Given the description of an element on the screen output the (x, y) to click on. 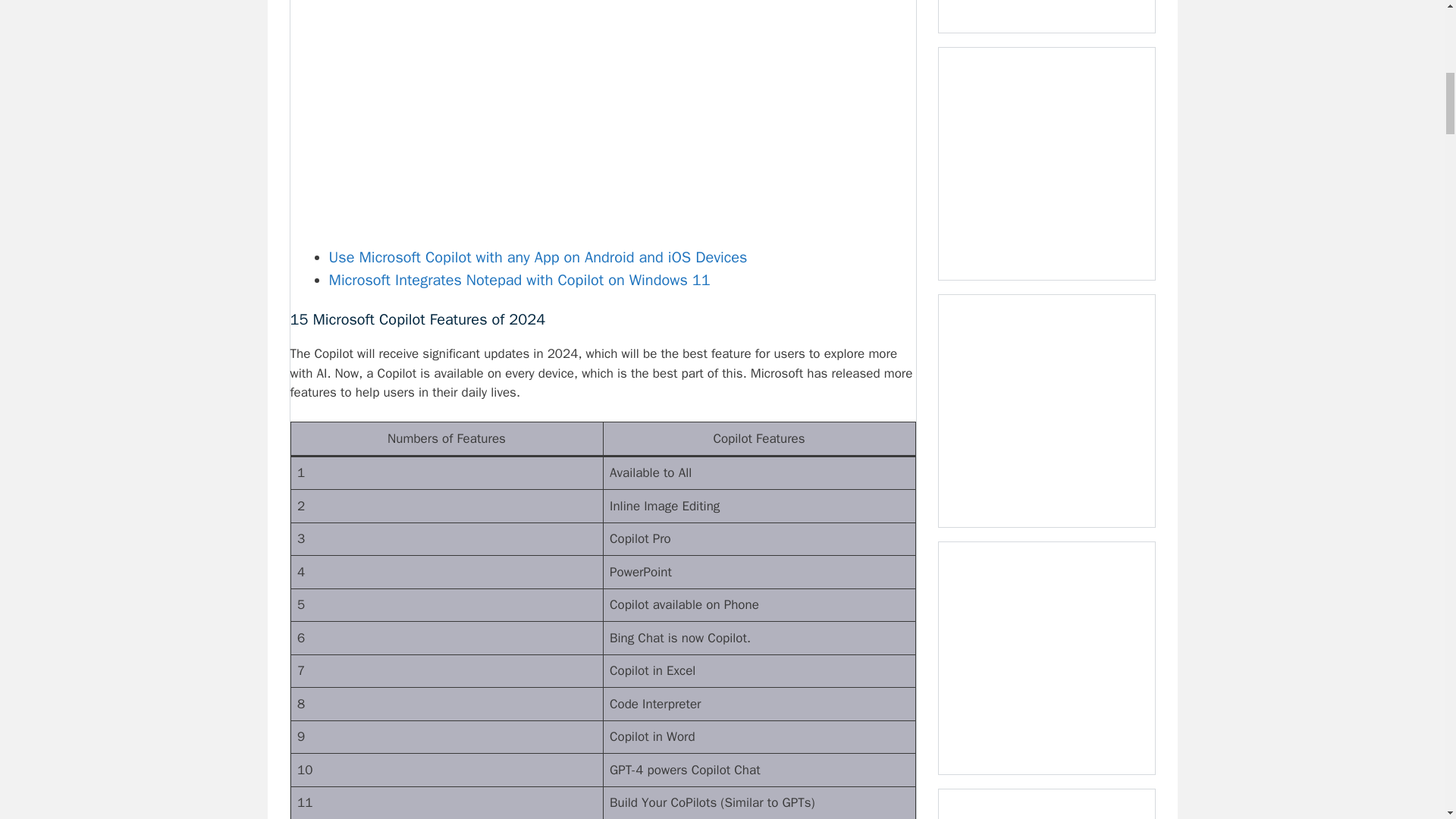
Microsoft Integrates Notepad with Copilot on Windows 11 (519, 280)
